Given the description of an element on the screen output the (x, y) to click on. 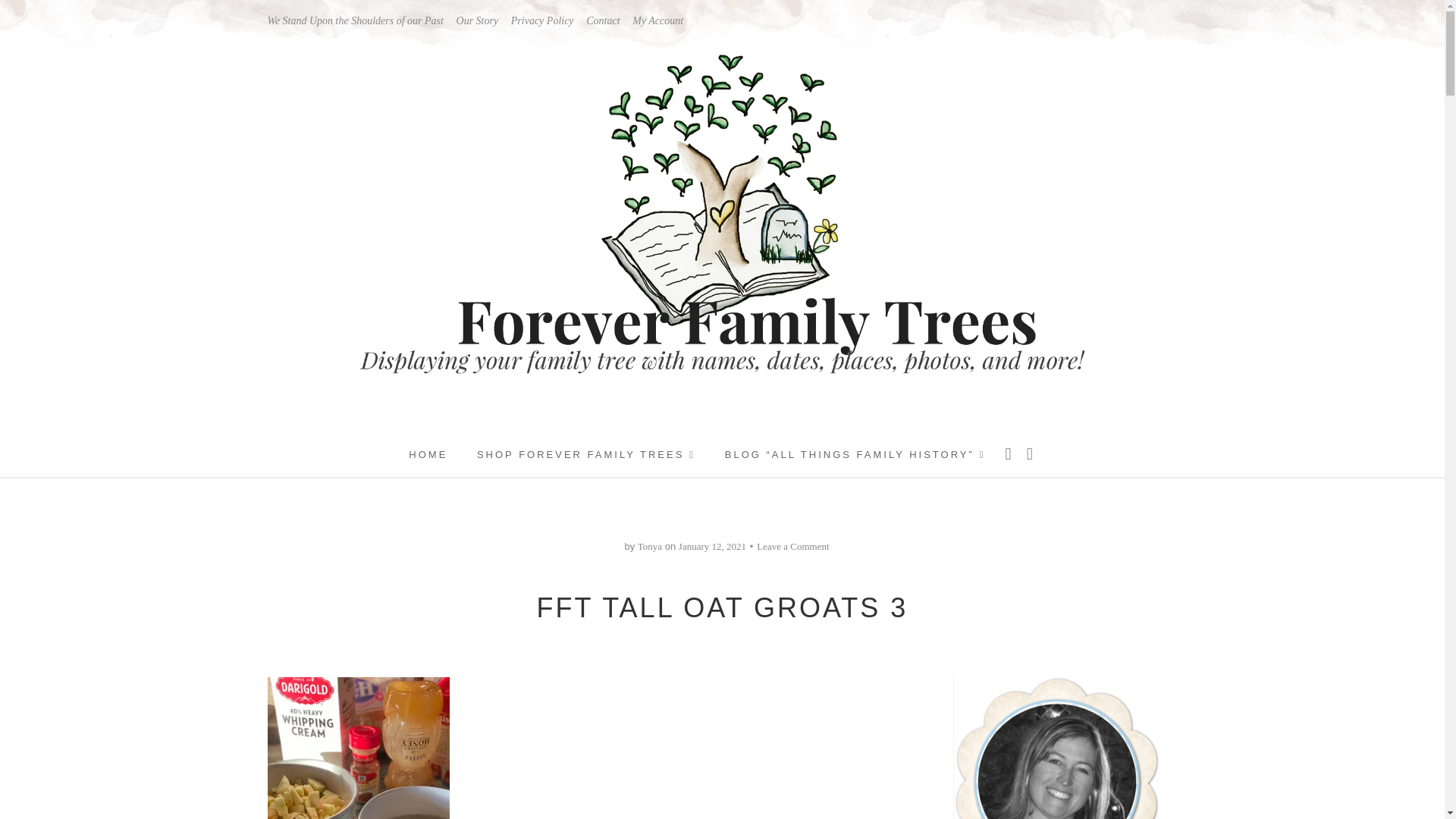
Privacy Policy (542, 20)
Leave a Comment (792, 546)
We Stand Upon the Shoulders of our Past (354, 20)
HOME (427, 454)
Contact (603, 20)
Our Story (478, 20)
SHOP FOREVER FAMILY TREES (586, 454)
My Account (656, 20)
Tonya (649, 546)
